Given the description of an element on the screen output the (x, y) to click on. 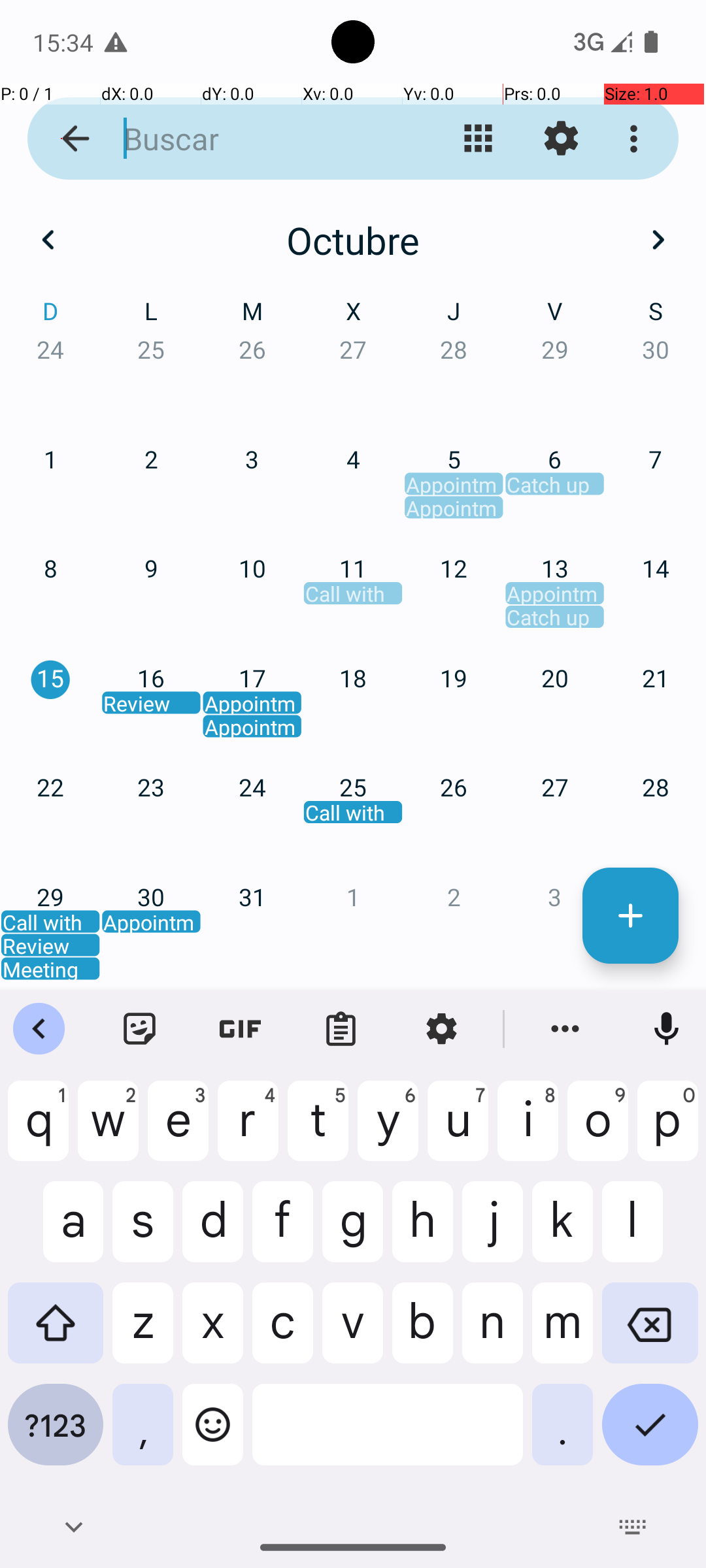
Buscar Element type: android.widget.EditText (252, 138)
Cambiar vista Element type: android.widget.Button (477, 138)
Ajustes Element type: android.widget.Button (560, 138)
Más opciones Element type: android.widget.ImageView (636, 138)
Nuevo evento Element type: android.widget.ImageButton (630, 915)
Octubre Element type: android.widget.TextView (352, 239)
